Given the description of an element on the screen output the (x, y) to click on. 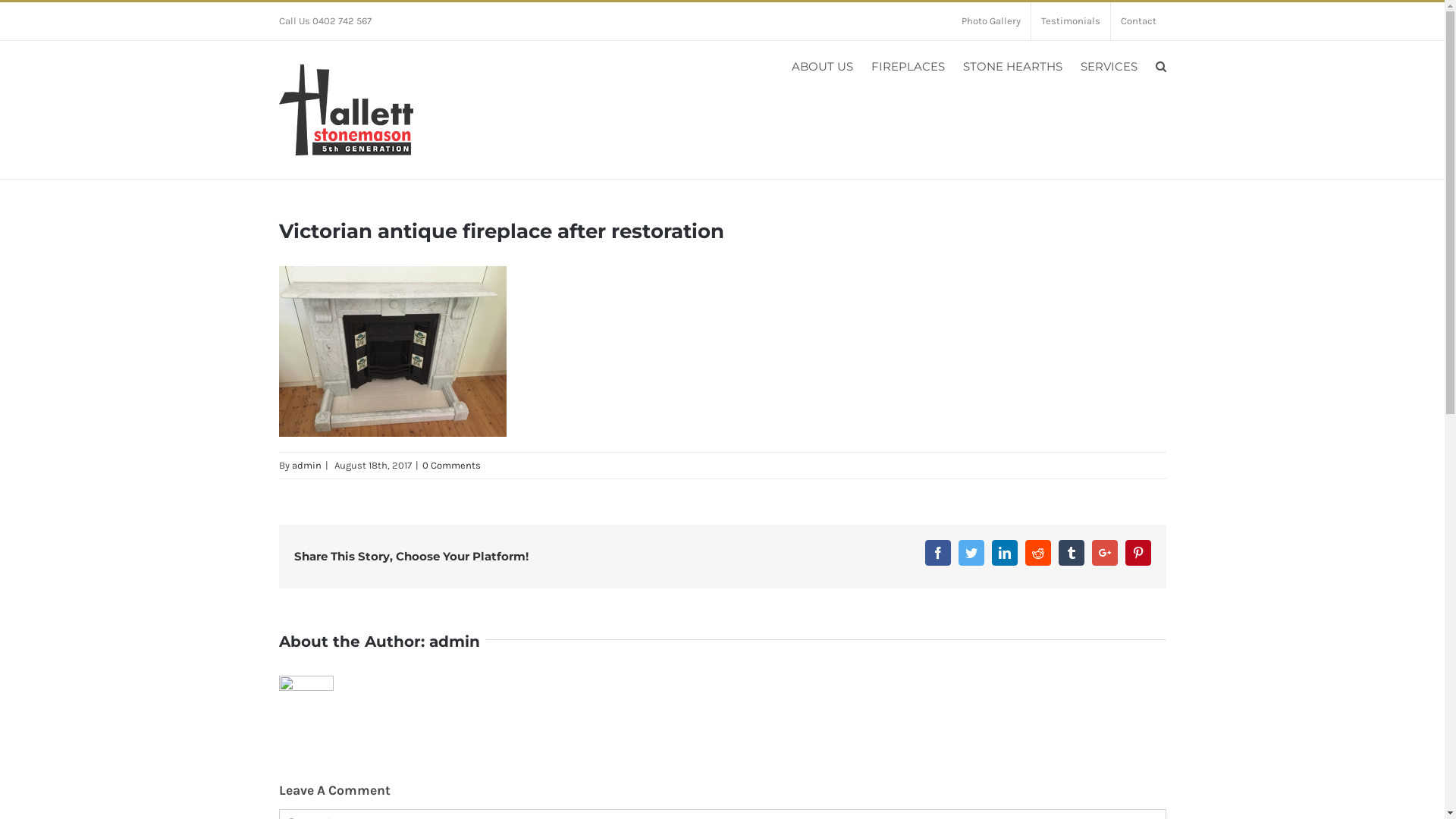
0 Comments Element type: text (450, 464)
Photo Gallery Element type: text (989, 21)
Twitter Element type: text (971, 552)
Pinterest Element type: text (1138, 552)
admin Element type: text (305, 464)
SERVICES Element type: text (1107, 65)
admin Element type: text (454, 641)
Tumblr Element type: text (1071, 552)
Contact Element type: text (1137, 21)
Google+ Element type: text (1104, 552)
Testimonials Element type: text (1070, 21)
Facebook Element type: text (937, 552)
STONE HEARTHS Element type: text (1012, 65)
FIREPLACES Element type: text (907, 65)
Linkedin Element type: text (1004, 552)
ABOUT US Element type: text (822, 65)
Reddit Element type: text (1038, 552)
